Given the description of an element on the screen output the (x, y) to click on. 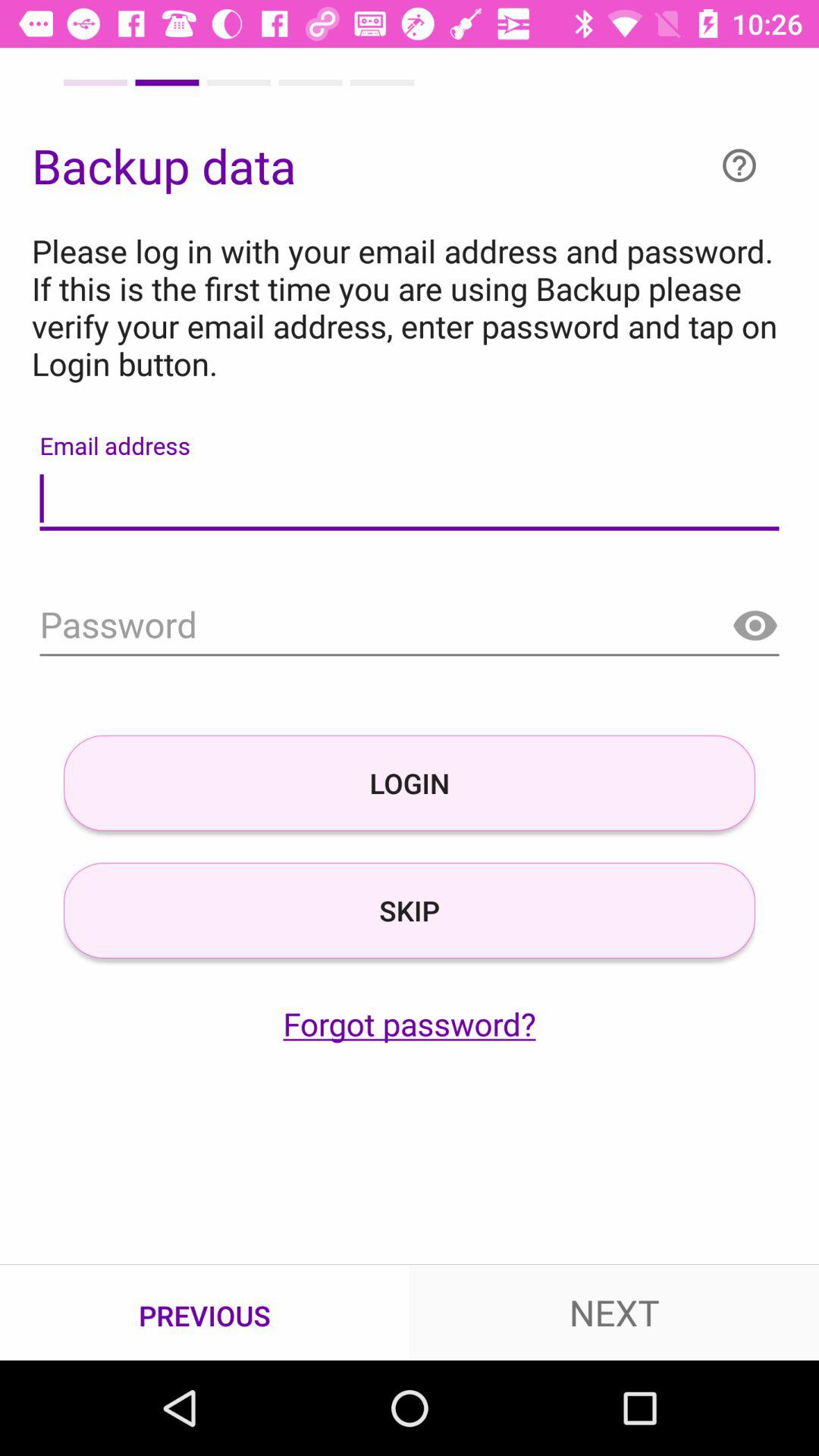
how to do (739, 165)
